Given the description of an element on the screen output the (x, y) to click on. 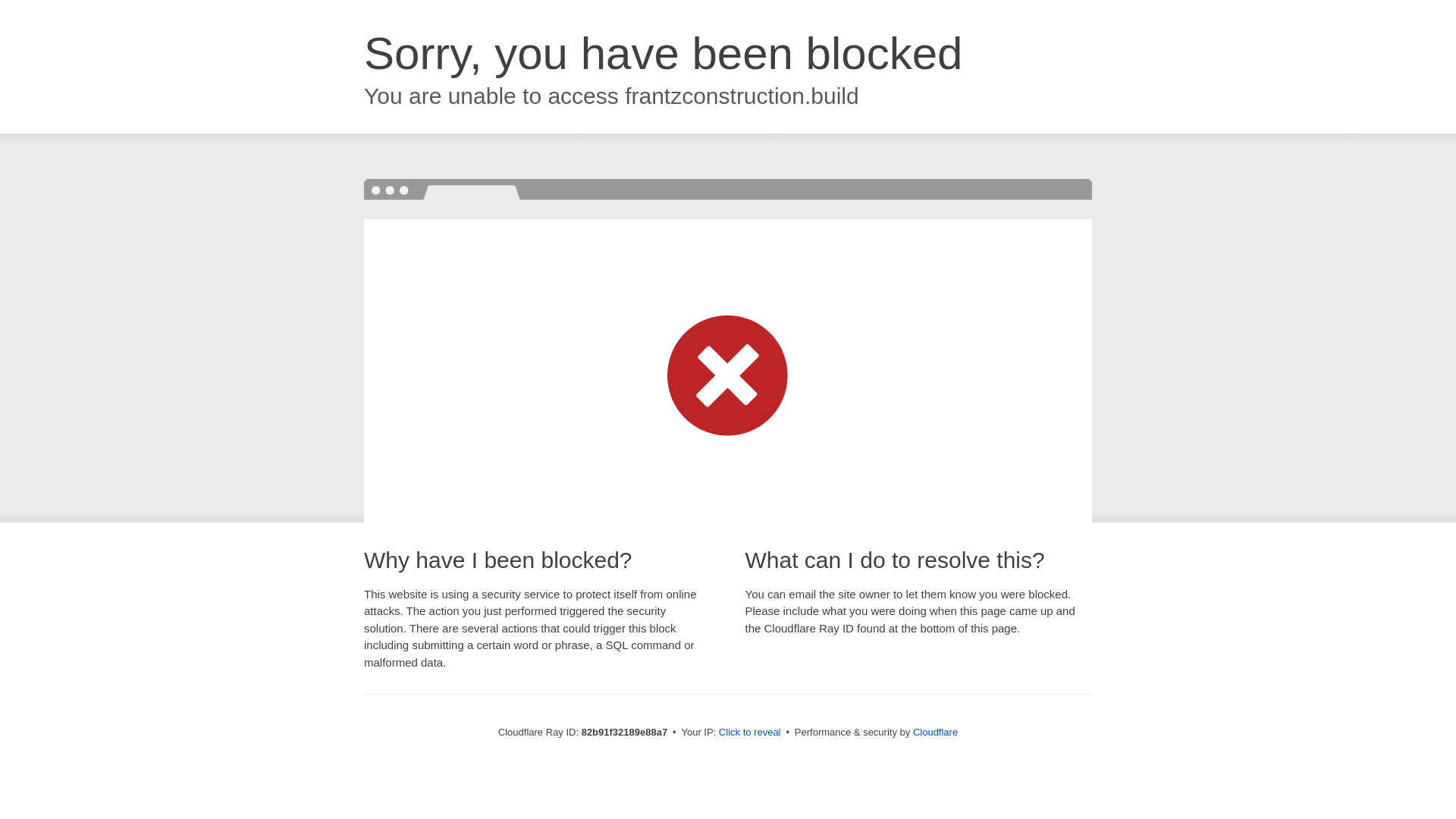
Click to reveal Element type: text (749, 732)
Cloudflare Element type: text (935, 731)
